Given the description of an element on the screen output the (x, y) to click on. 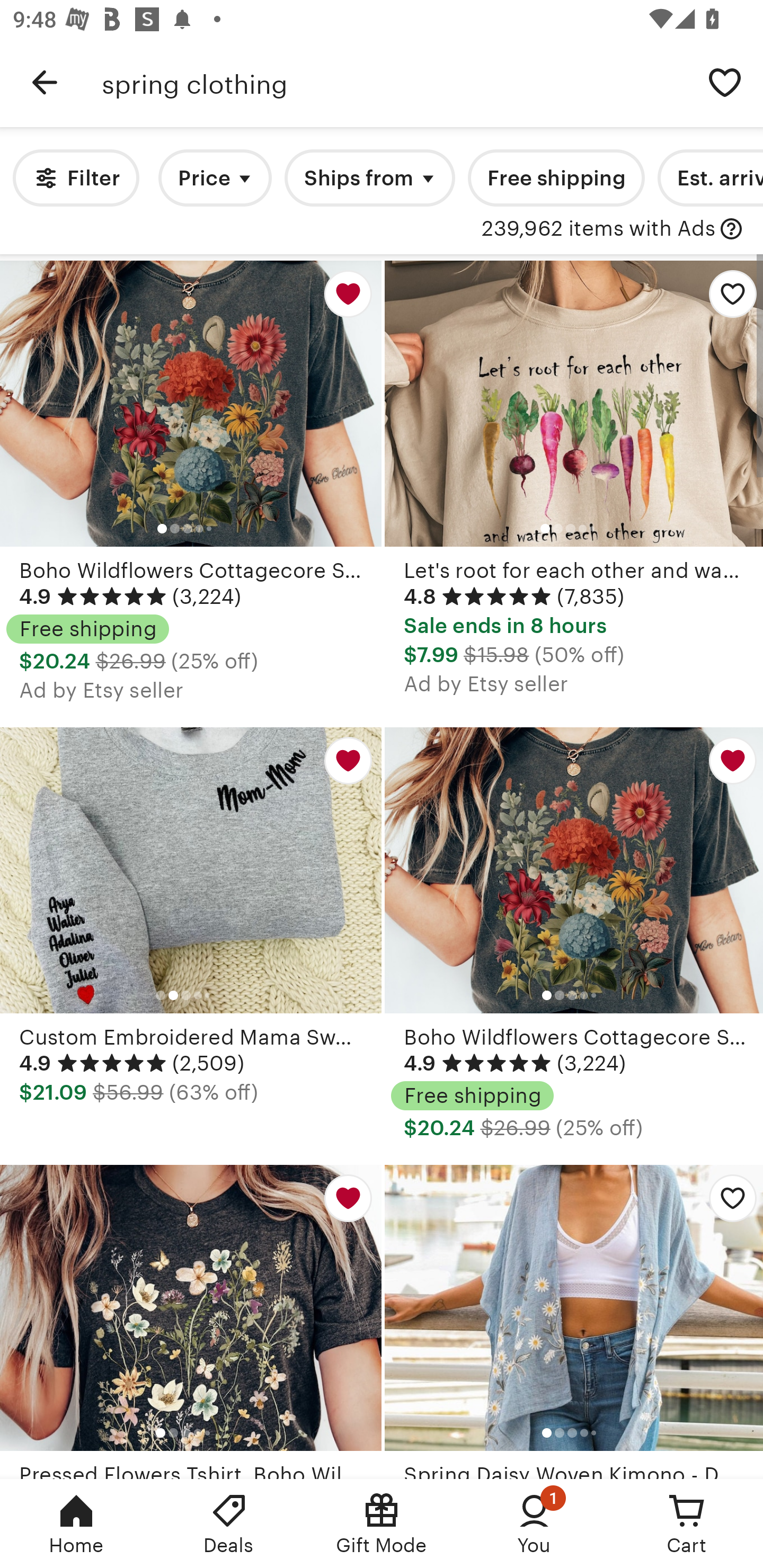
Navigate up (44, 82)
Save search (724, 81)
spring clothing (393, 82)
Filter (75, 177)
Price (214, 177)
Ships from (369, 177)
Free shipping (555, 177)
239,962 items with Ads (598, 228)
with Ads (730, 228)
Deals (228, 1523)
Gift Mode (381, 1523)
You, 1 new notification You (533, 1523)
Cart (686, 1523)
